Given the description of an element on the screen output the (x, y) to click on. 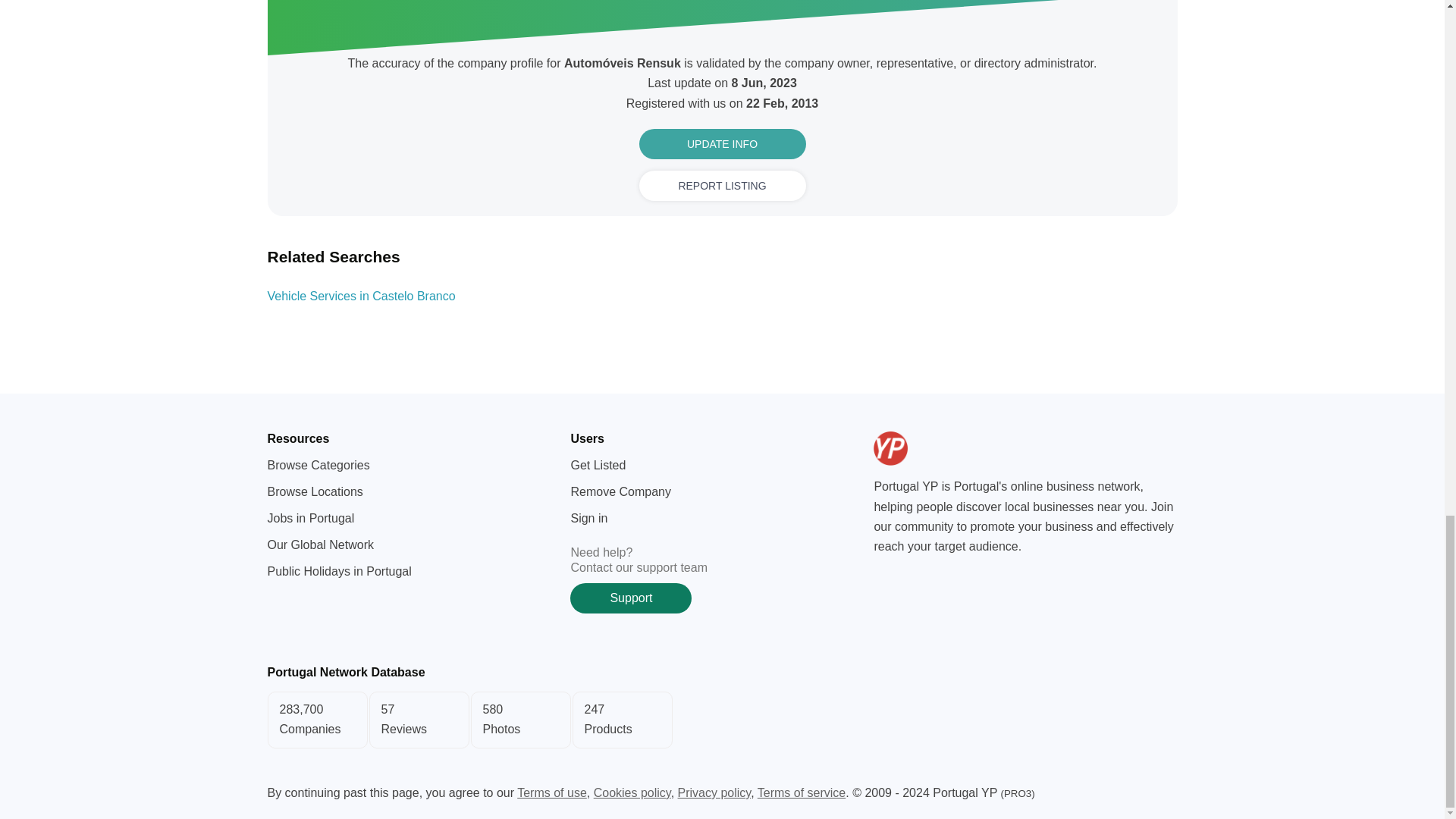
UPDATE INFO (722, 143)
REPORT LISTING (721, 719)
Portugal Business Directory - Portugal YP (722, 185)
